Given the description of an element on the screen output the (x, y) to click on. 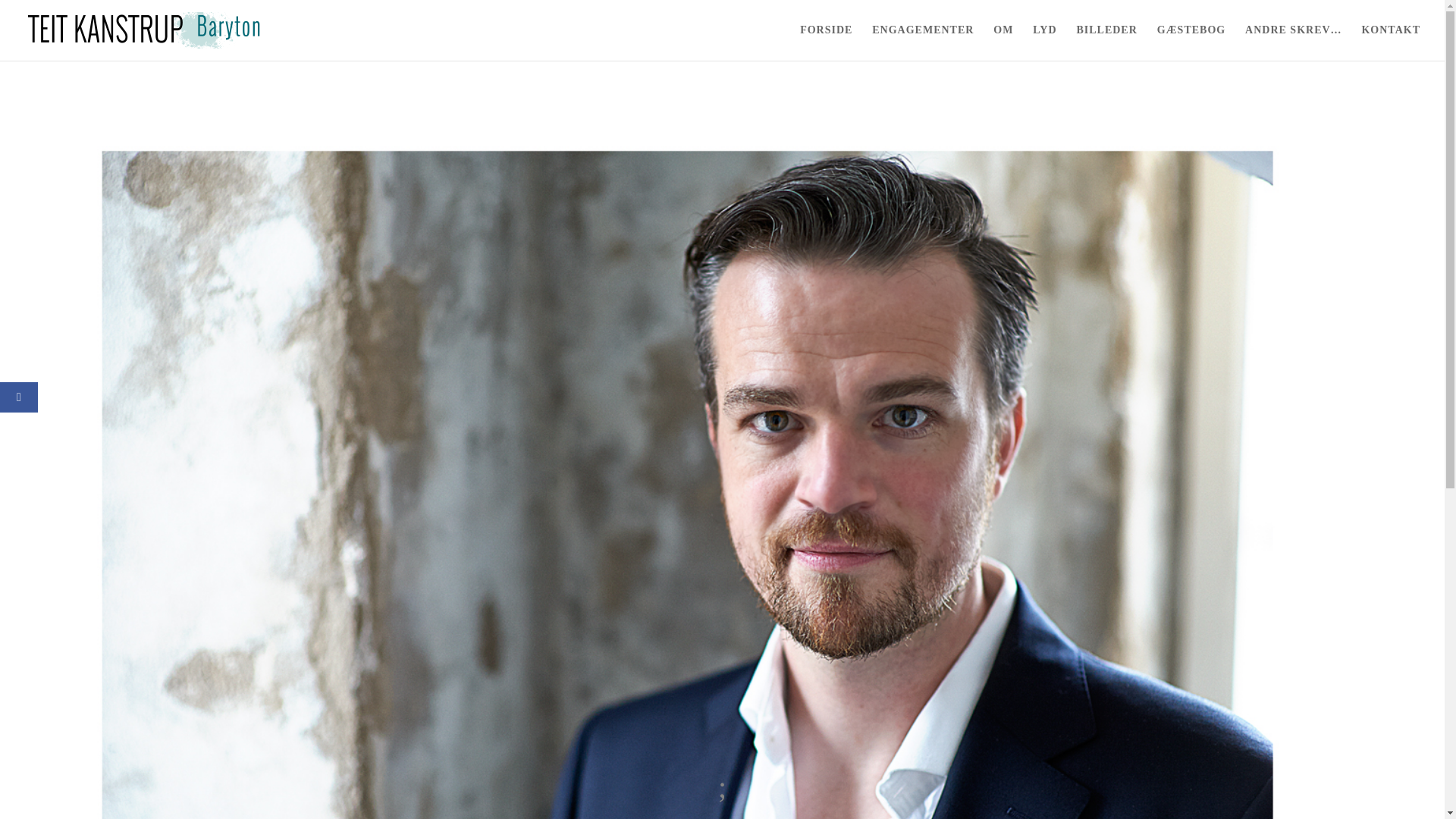
BILLEDER (1106, 42)
ENGAGEMENTER (923, 42)
KONTAKT (1391, 42)
FORSIDE (825, 42)
